Given the description of an element on the screen output the (x, y) to click on. 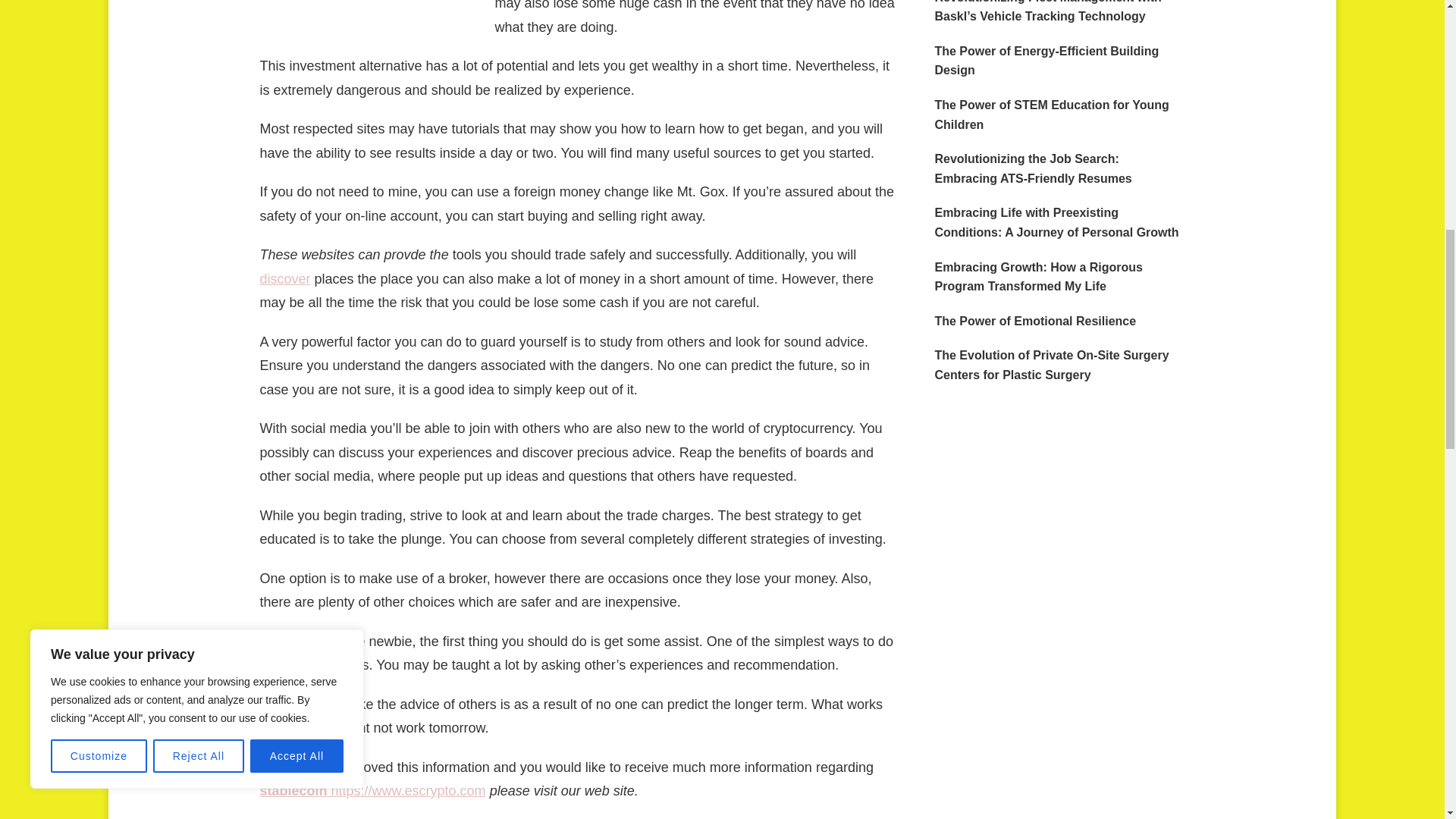
discover (284, 278)
